Given the description of an element on the screen output the (x, y) to click on. 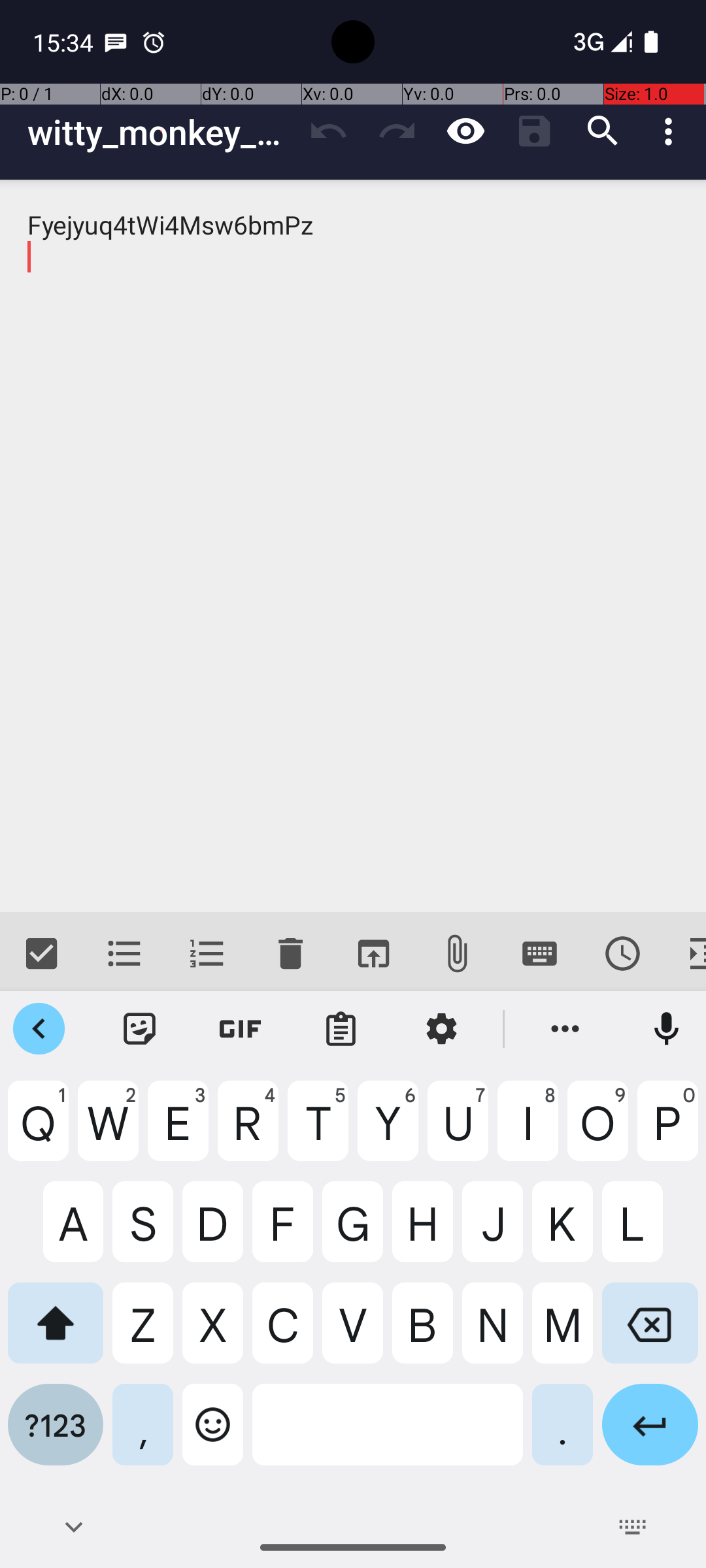
witty_monkey_final Element type: android.widget.TextView (160, 131)
Fyejyuq4tWi4Msw6bmPz
 Element type: android.widget.EditText (353, 545)
